Given the description of an element on the screen output the (x, y) to click on. 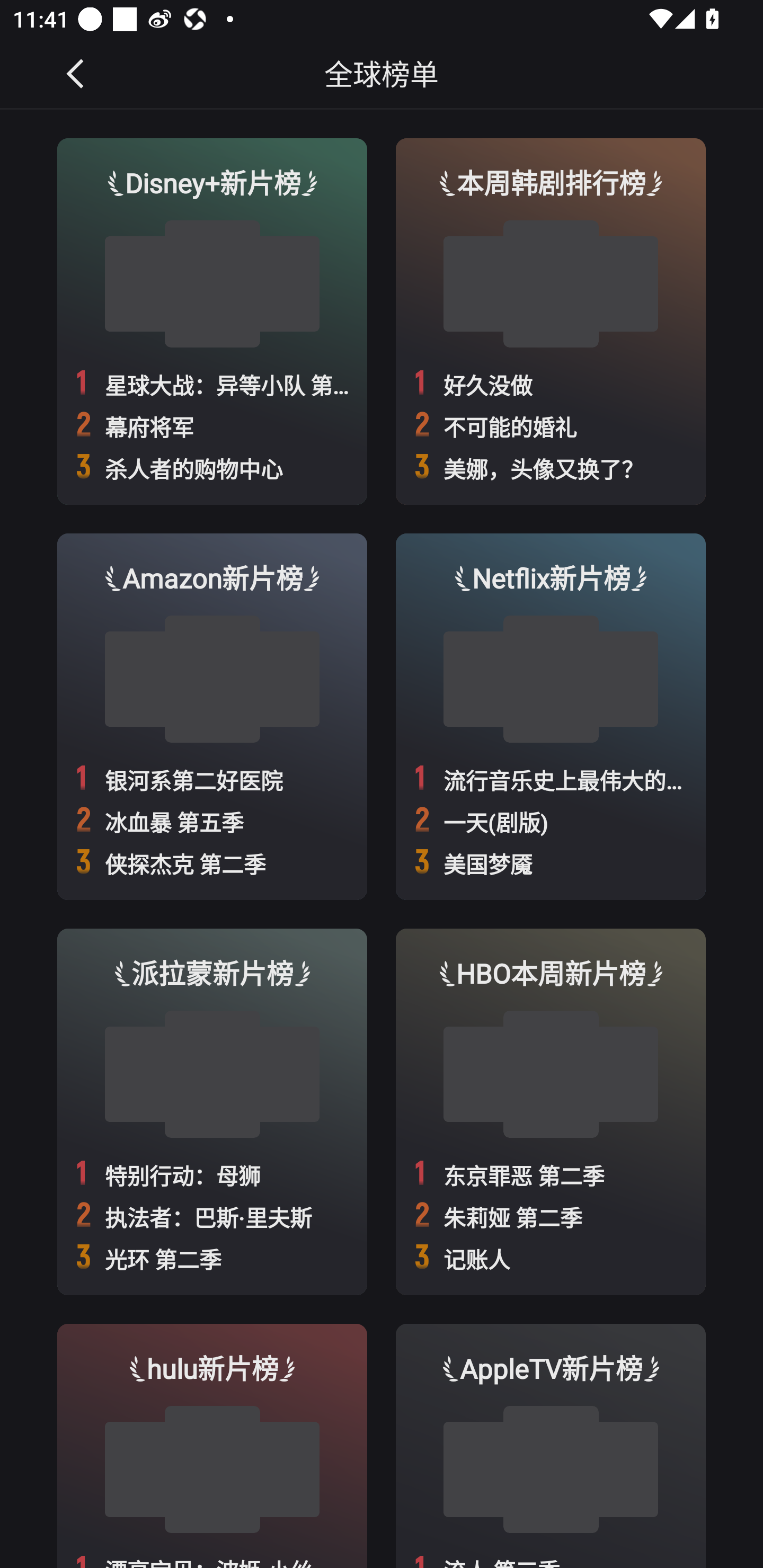
全球榜单 (381, 72)
 返回 (76, 72)
 Disney+新片榜  1 星球大战：异等小队 第三季 2 幕府将军 3 杀人者的购物中心 (212, 320)
 本周韩剧排行榜  1 好久没做 2 不可能的婚礼 3 美娜，头像又换了？ (550, 320)
1 星球大战：异等小队 第三季 (212, 383)
1 好久没做 (550, 383)
2 幕府将军 (212, 425)
2 不可能的婚礼 (550, 425)
3 杀人者的购物中心 (212, 467)
3 美娜，头像又换了？ (550, 467)
 Amazon新片榜  1 银河系第二好医院 2 冰血暴 第五季 3 侠探杰克 第二季 (212, 716)
 Netflix新片榜  1 流行音乐史上最伟大的夜晚 2 一天(剧版) 3 美国梦魇 (550, 716)
1 银河系第二好医院 (212, 778)
1 流行音乐史上最伟大的夜晚 (550, 778)
2 冰血暴 第五季 (212, 820)
2 一天(剧版) (550, 820)
3 侠探杰克 第二季 (212, 863)
3 美国梦魇 (550, 863)
 派拉蒙新片榜  1 特别行动：母狮 2 执法者：巴斯·里夫斯 3 光环 第二季 (212, 1111)
 HBO本周新片榜  1 东京罪恶 第二季 2 朱莉娅 第二季 3 记账人 (550, 1111)
1 特别行动：母狮 (212, 1174)
1 东京罪恶 第二季 (550, 1174)
2 执法者：巴斯·里夫斯 (212, 1215)
2 朱莉娅 第二季 (550, 1215)
3 光环 第二季 (212, 1258)
3 记账人 (550, 1258)
 hulu新片榜  1 漂亮宝贝：波姬·小丝 (212, 1445)
 AppleTV新片榜  1 流人 第三季 (550, 1445)
